Given the description of an element on the screen output the (x, y) to click on. 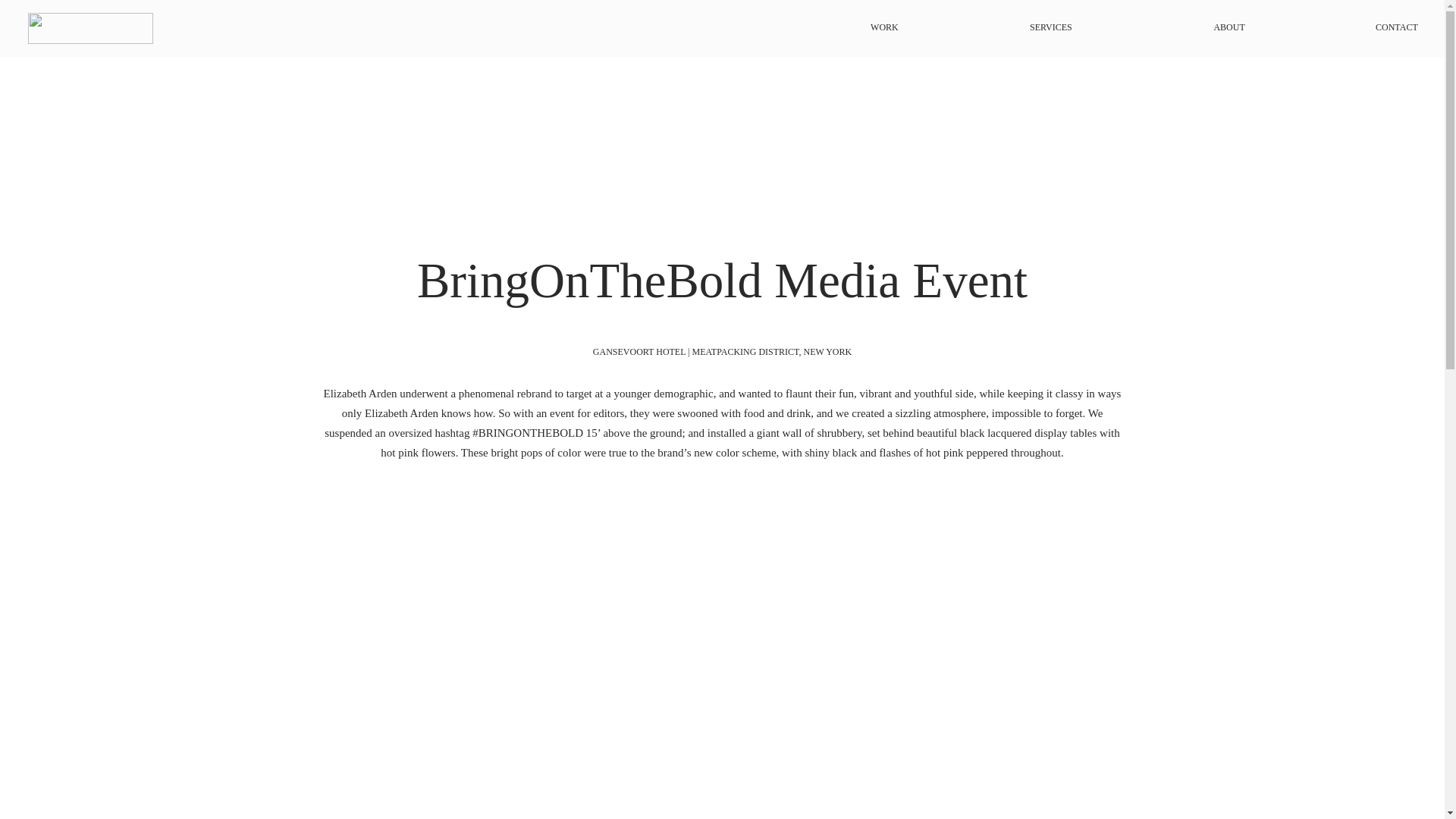
SERVICES (996, 27)
ABOUT (1169, 27)
CONTACT (1342, 27)
WORK (823, 27)
